Given the description of an element on the screen output the (x, y) to click on. 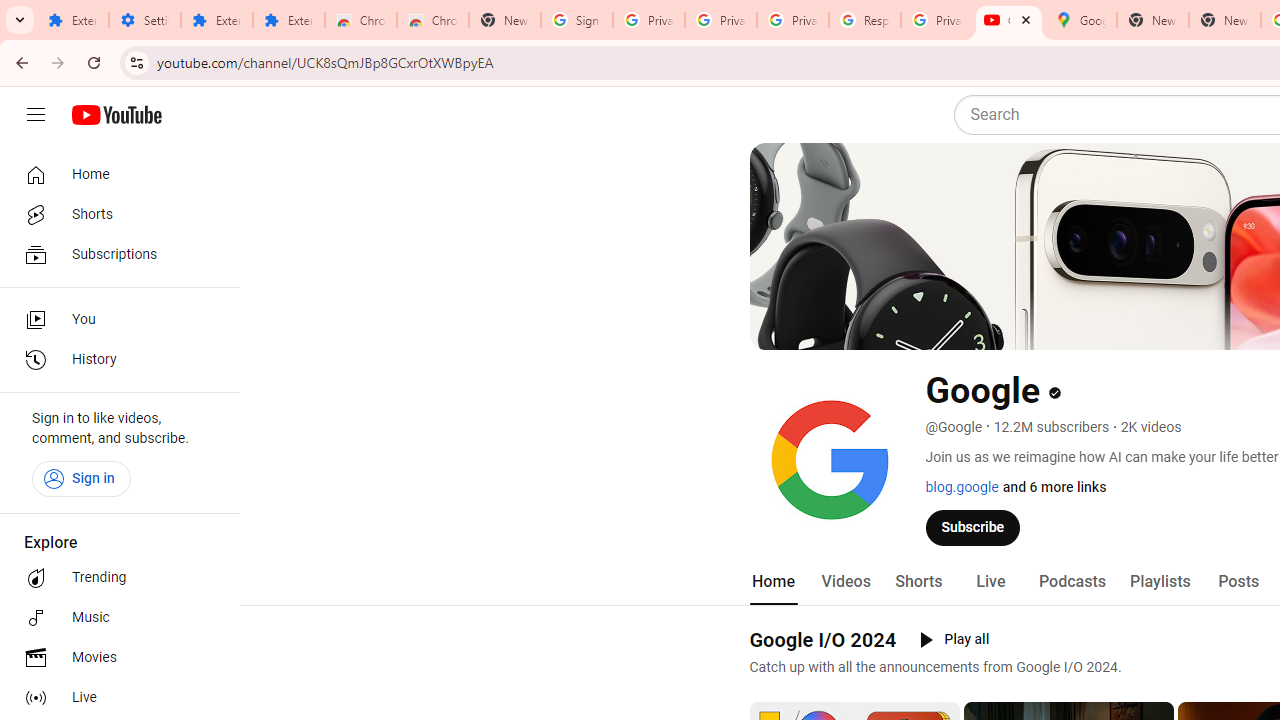
Google - YouTube (1008, 20)
Playlists (1160, 581)
Live (113, 697)
blog.google (961, 487)
Sign in - Google Accounts (577, 20)
Extensions (289, 20)
Trending (113, 578)
Shorts (113, 214)
Subscriptions (113, 254)
